Given the description of an element on the screen output the (x, y) to click on. 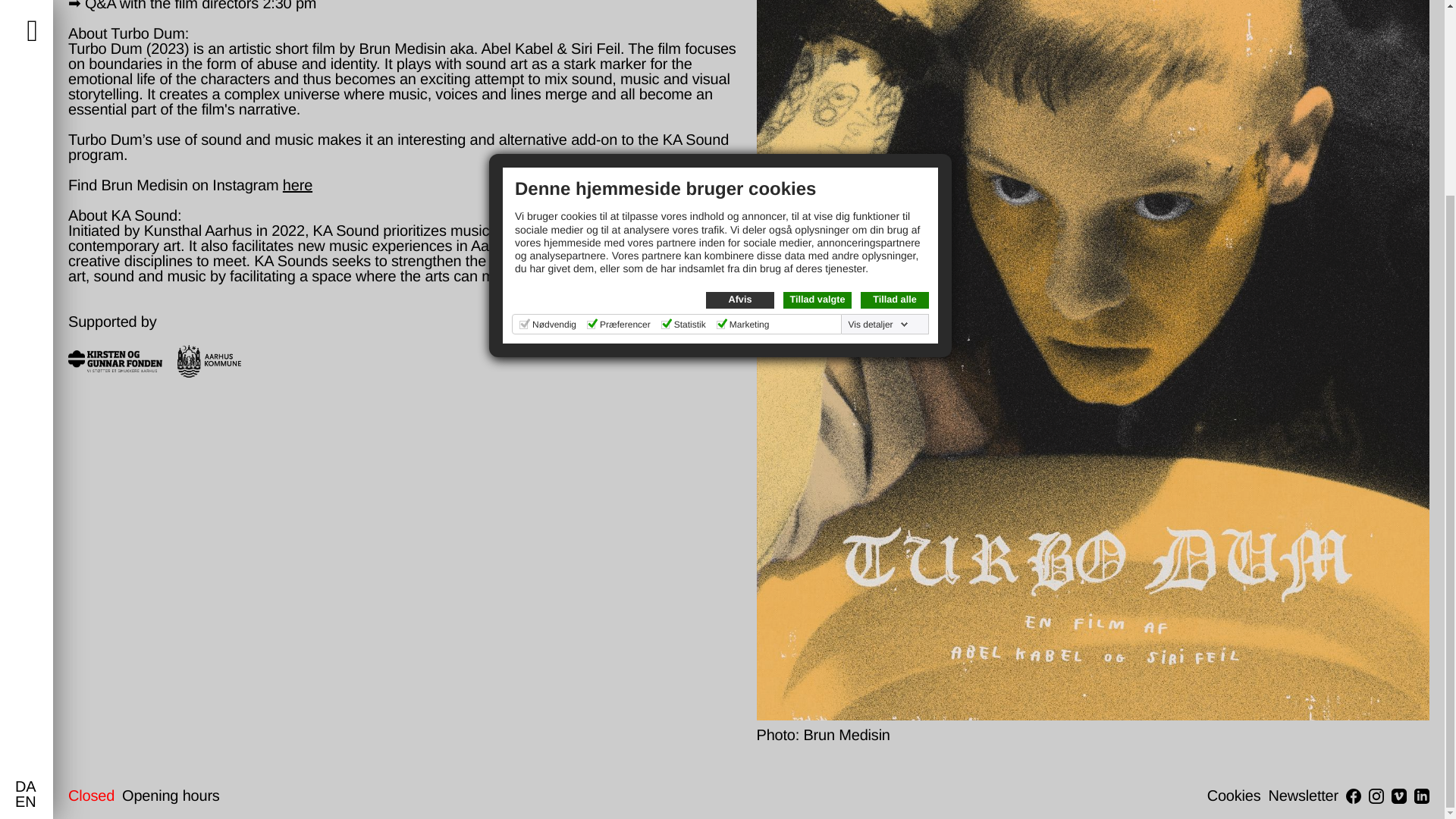
Afvis (740, 53)
Vis detaljer (877, 78)
Tillad alle (894, 53)
Tillad valgte (817, 53)
